Given the description of an element on the screen output the (x, y) to click on. 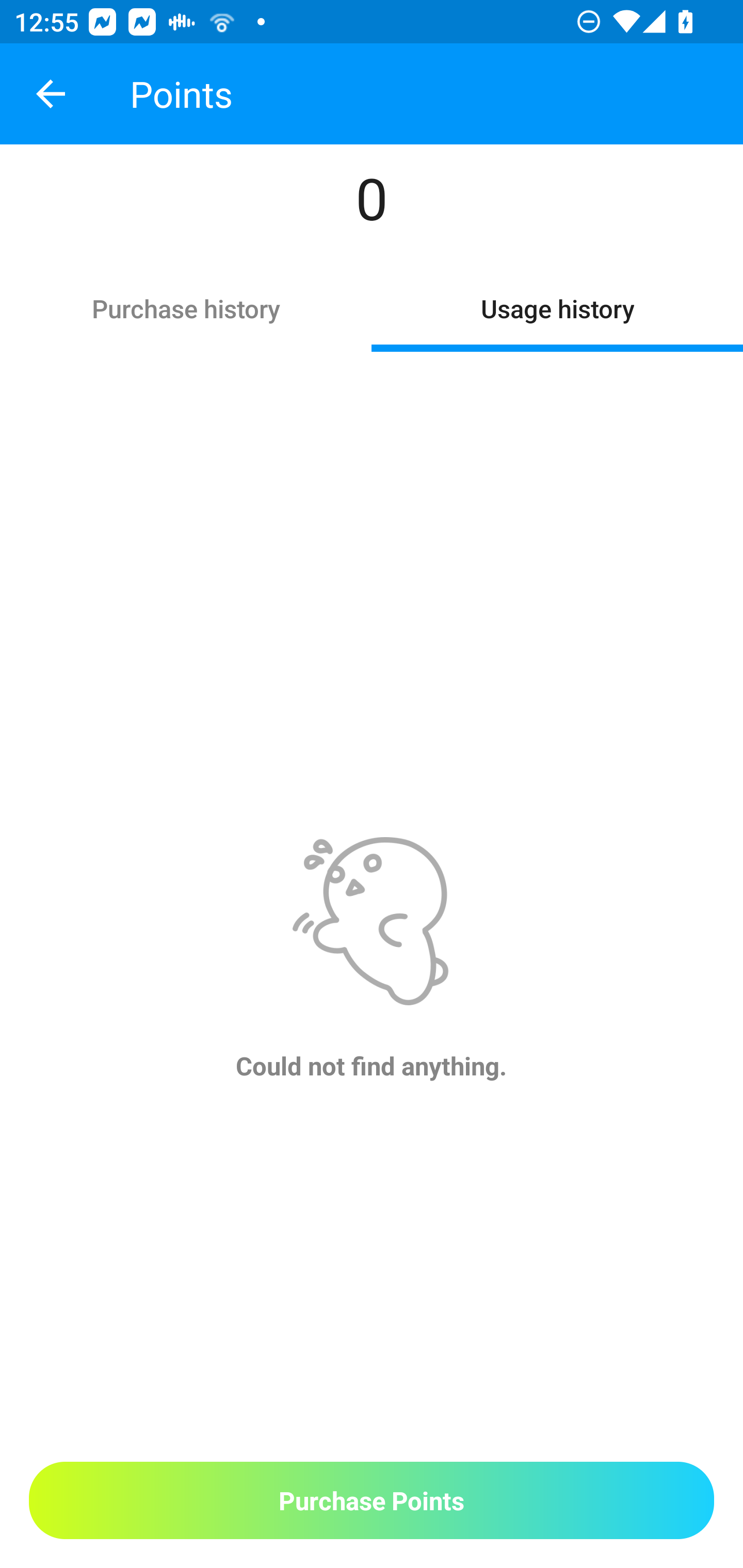
Navigate up (50, 93)
Purchase history (185, 307)
Purchase Points (371, 1500)
